Given the description of an element on the screen output the (x, y) to click on. 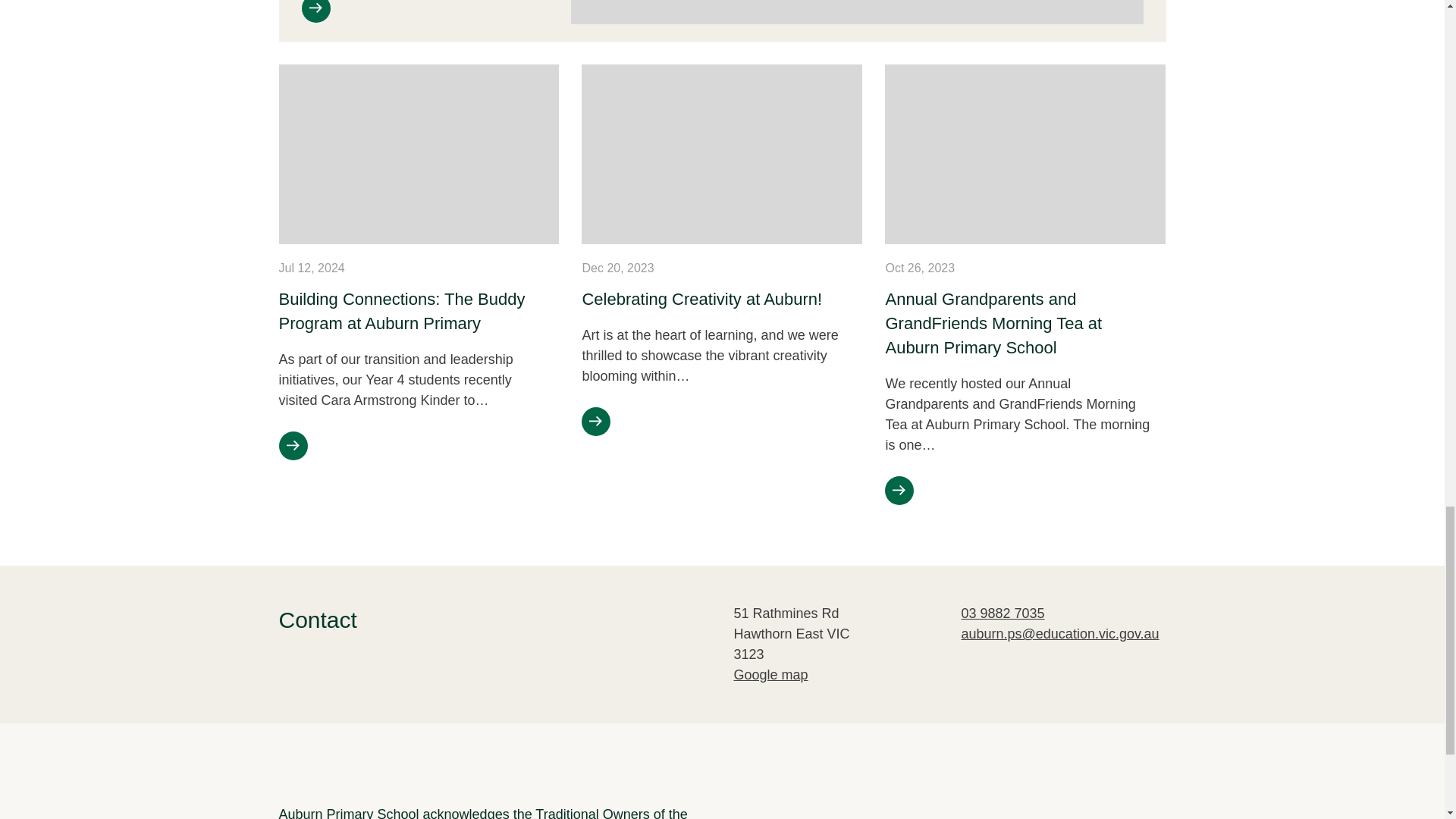
Building Connections: The Buddy Program at Auburn Primary (402, 310)
Google map (804, 675)
Celebrating Creativity at Auburn! (701, 298)
03 9882 7035 (1002, 613)
